Given the description of an element on the screen output the (x, y) to click on. 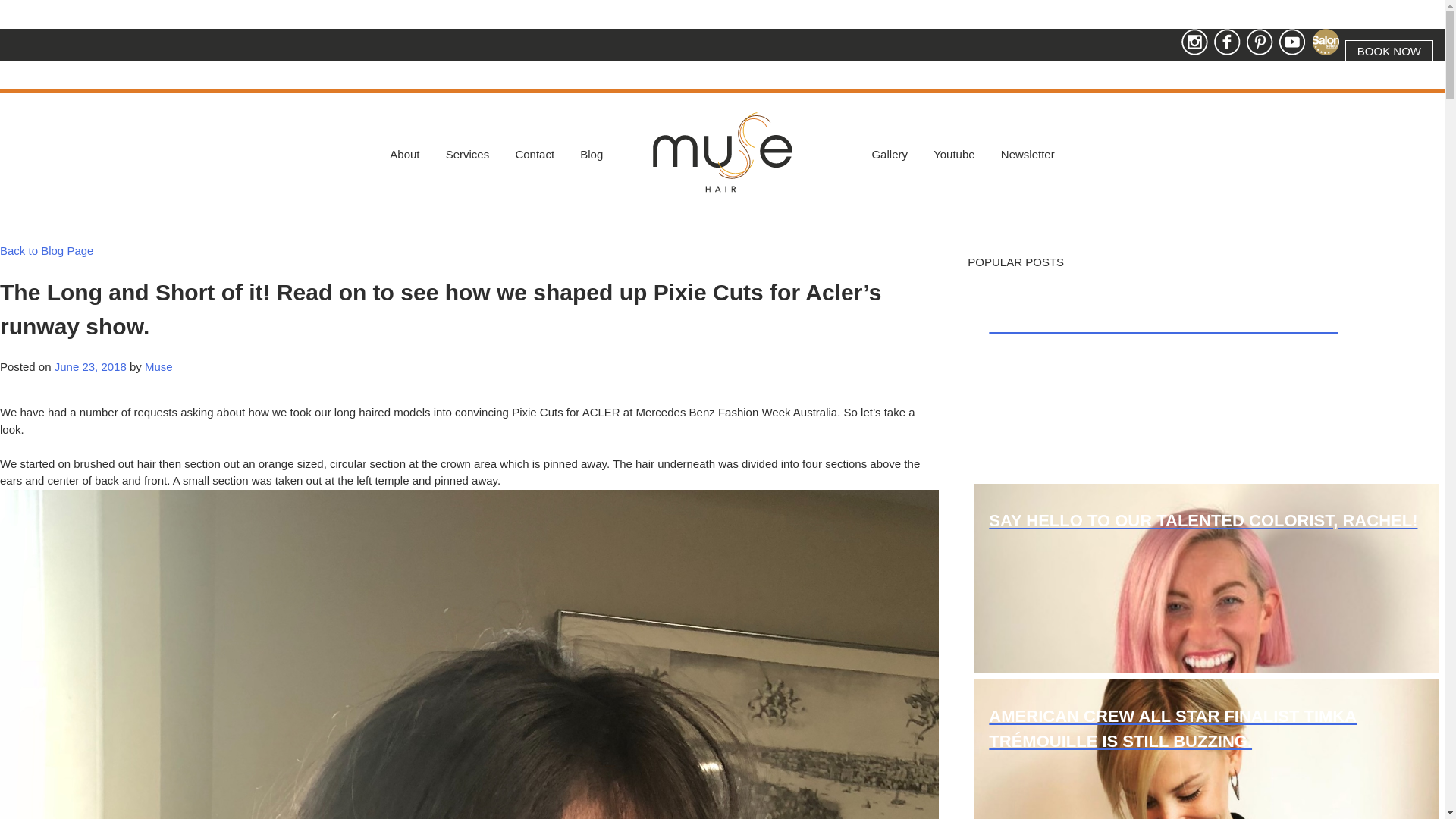
Muse Element type: text (158, 366)
SAY HELLO TO OUR TALENTED COLORIST, RACHEL! Element type: text (1205, 578)
Back to Blog Page Element type: text (46, 250)
STREET CLOSURES SATURDAY APRIL 1ST. Element type: text (1205, 382)
About Element type: text (404, 154)
Gallery Element type: text (889, 154)
Newsletter Element type: text (1027, 154)
June 23, 2018 Element type: text (90, 366)
BOOK NOW Element type: text (1389, 50)
Blog Element type: text (591, 154)
Youtube Element type: text (954, 154)
Contact Element type: text (534, 154)
Muse Element type: hover (721, 184)
Services Element type: text (467, 154)
